Given the description of an element on the screen output the (x, y) to click on. 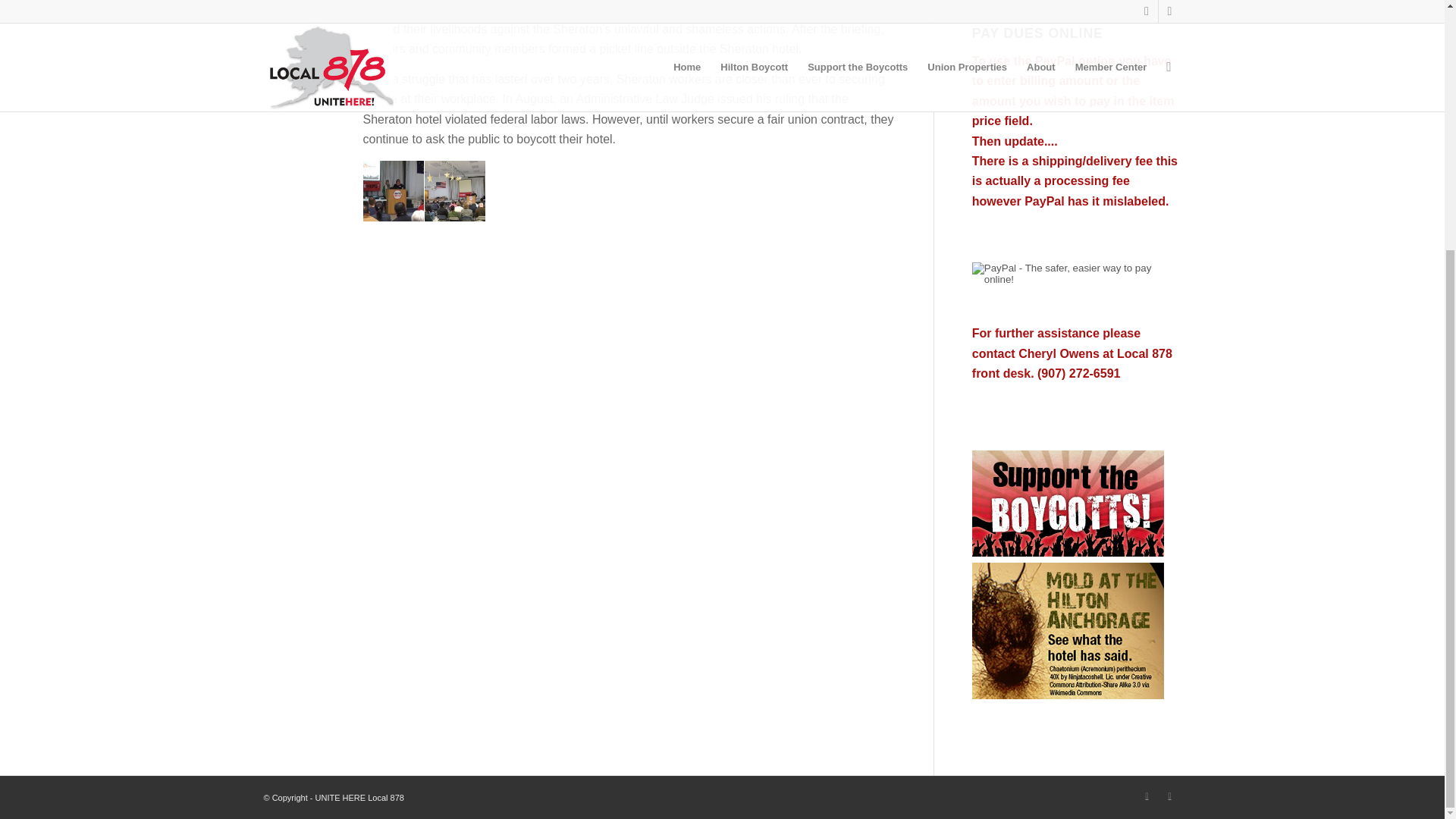
X (1146, 794)
Facebook (1169, 794)
